Given the description of an element on the screen output the (x, y) to click on. 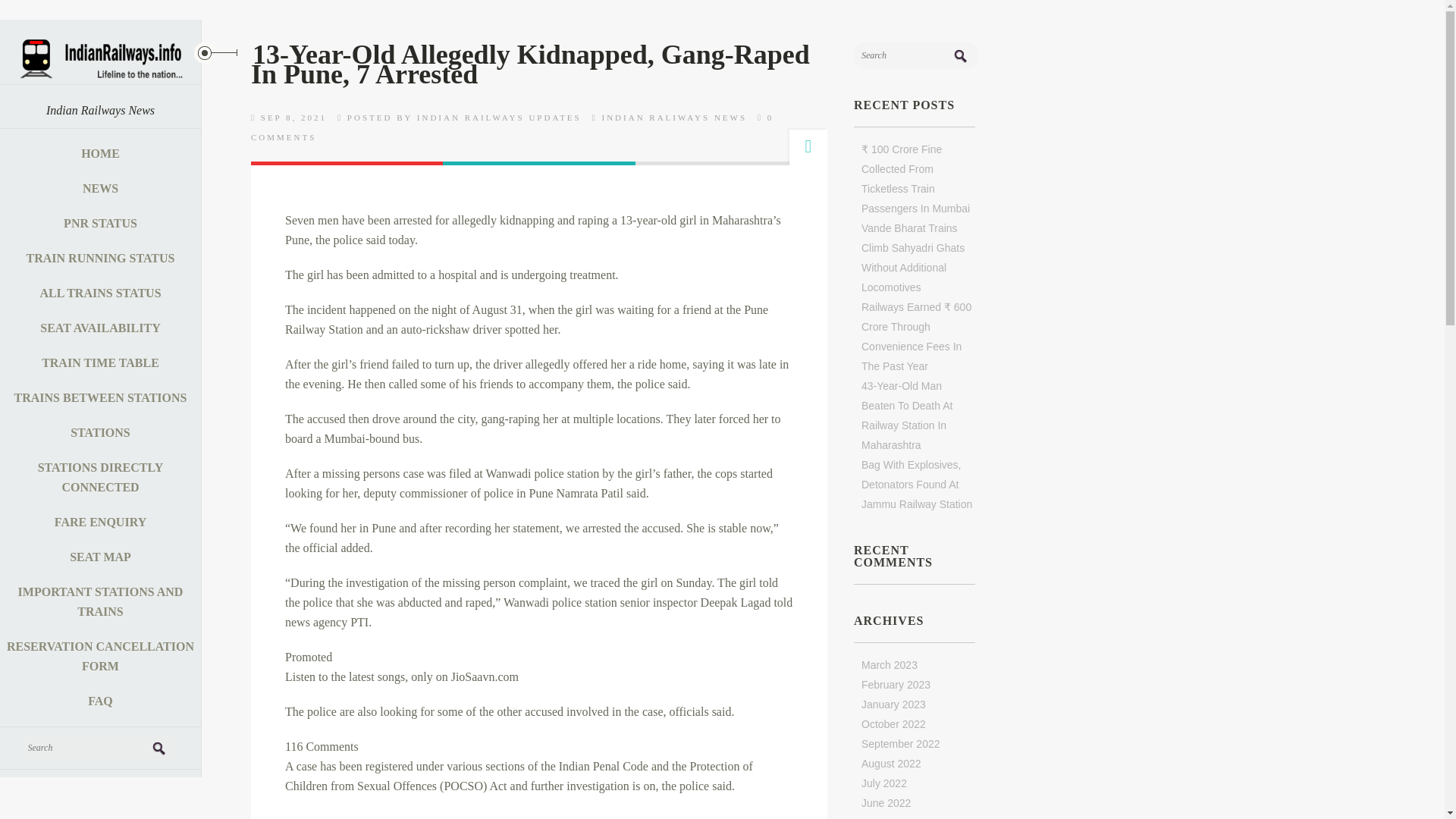
IMPORTANT STATIONS AND TRAINS (100, 601)
June 2022 (886, 802)
NEWS (100, 188)
January 2023 (893, 704)
RESERVATION CANCELLATION FORM (100, 656)
STATIONS (100, 432)
0 COMMENTS (511, 127)
TRAIN TIME TABLE (100, 362)
May 2022 (884, 817)
PNR STATUS (100, 223)
TRAIN RUNNING STATUS (100, 258)
September 2022 (900, 743)
STATIONS DIRECTLY CONNECTED (100, 477)
